Given the description of an element on the screen output the (x, y) to click on. 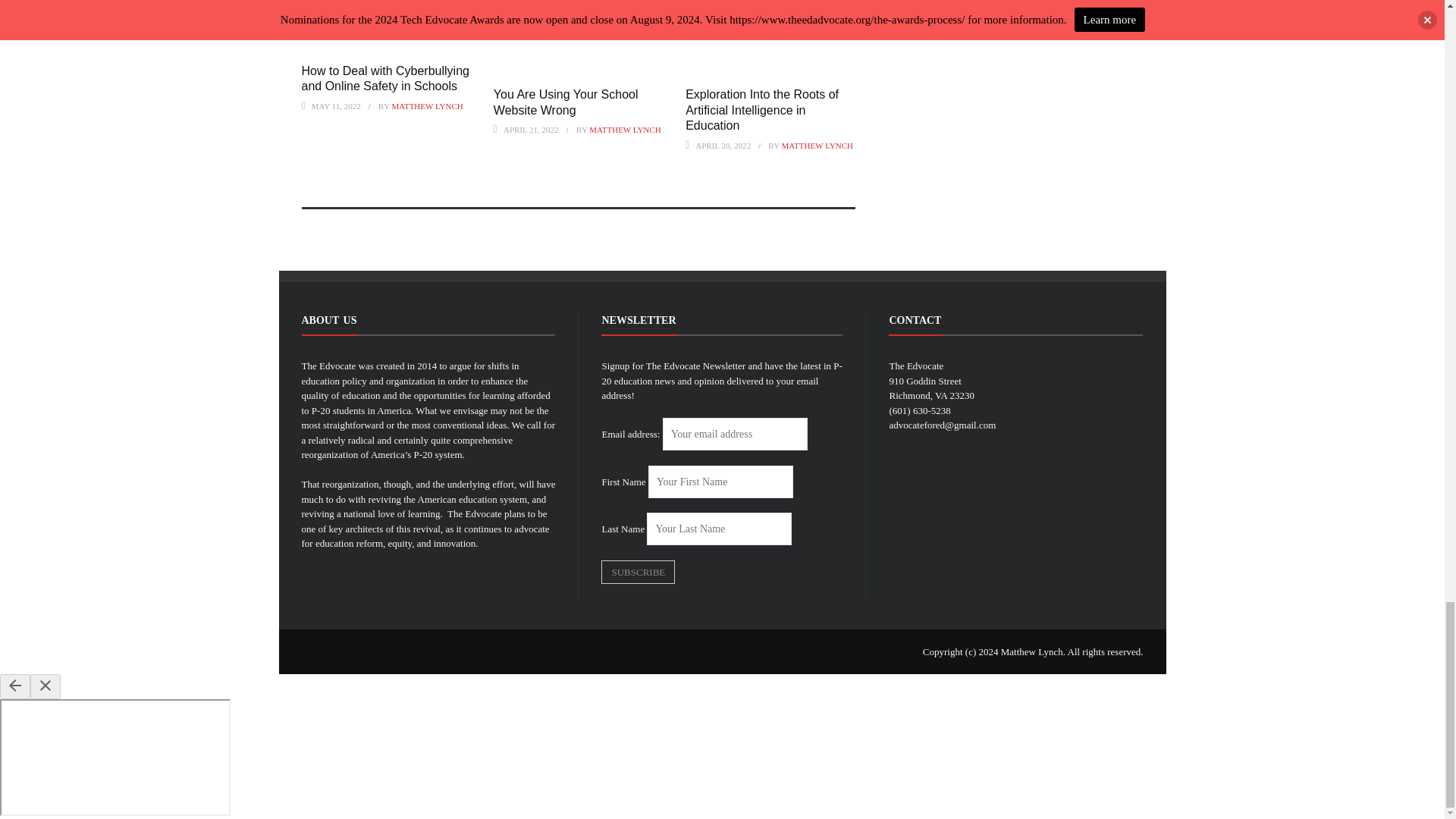
Subscribe (638, 572)
